Given the description of an element on the screen output the (x, y) to click on. 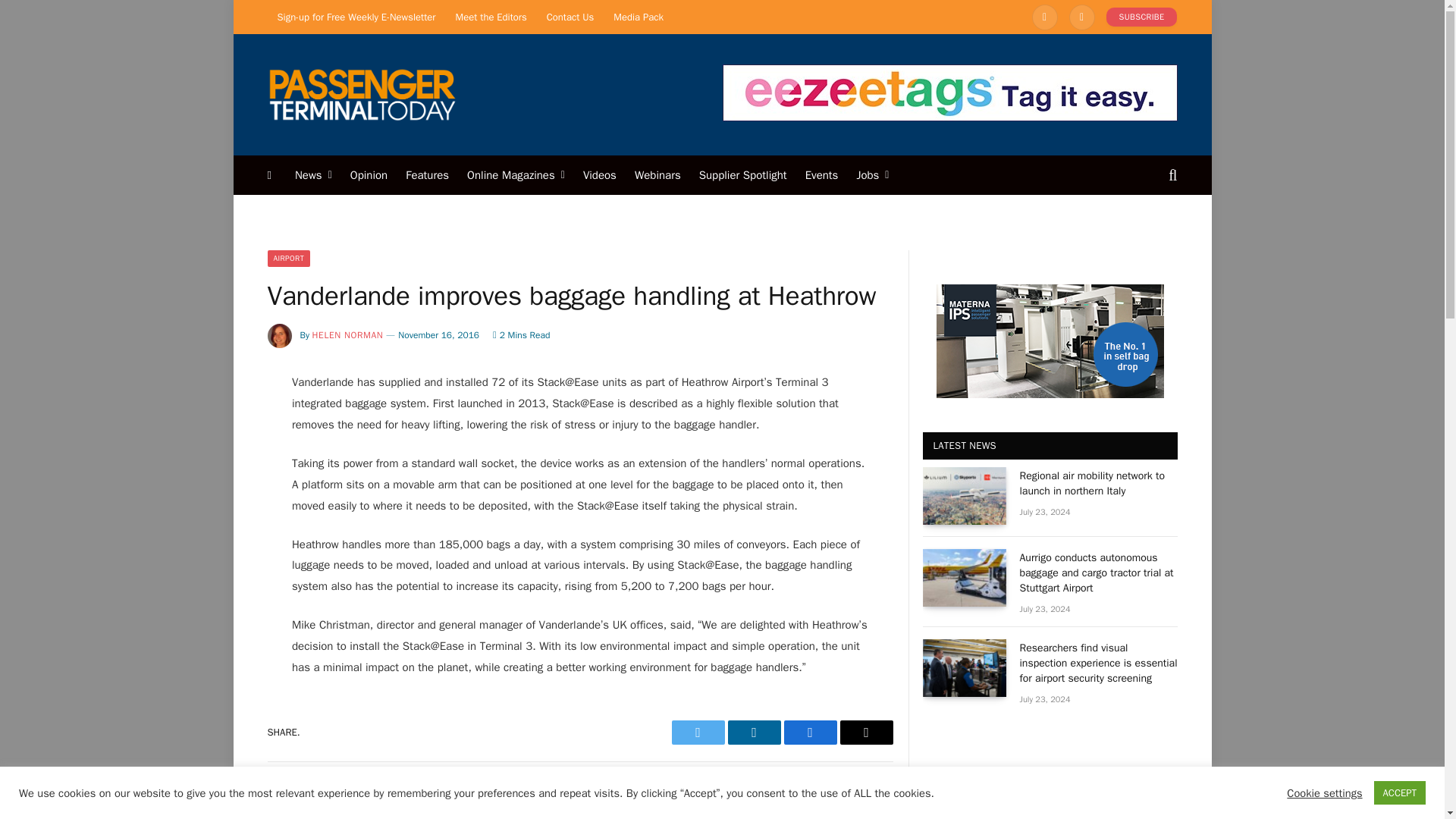
Share on Facebook (810, 732)
Posts by Helen Norman (348, 335)
Passenger Terminal Today (361, 93)
Share on LinkedIn (754, 732)
Share via Email (866, 732)
